Given the description of an element on the screen output the (x, y) to click on. 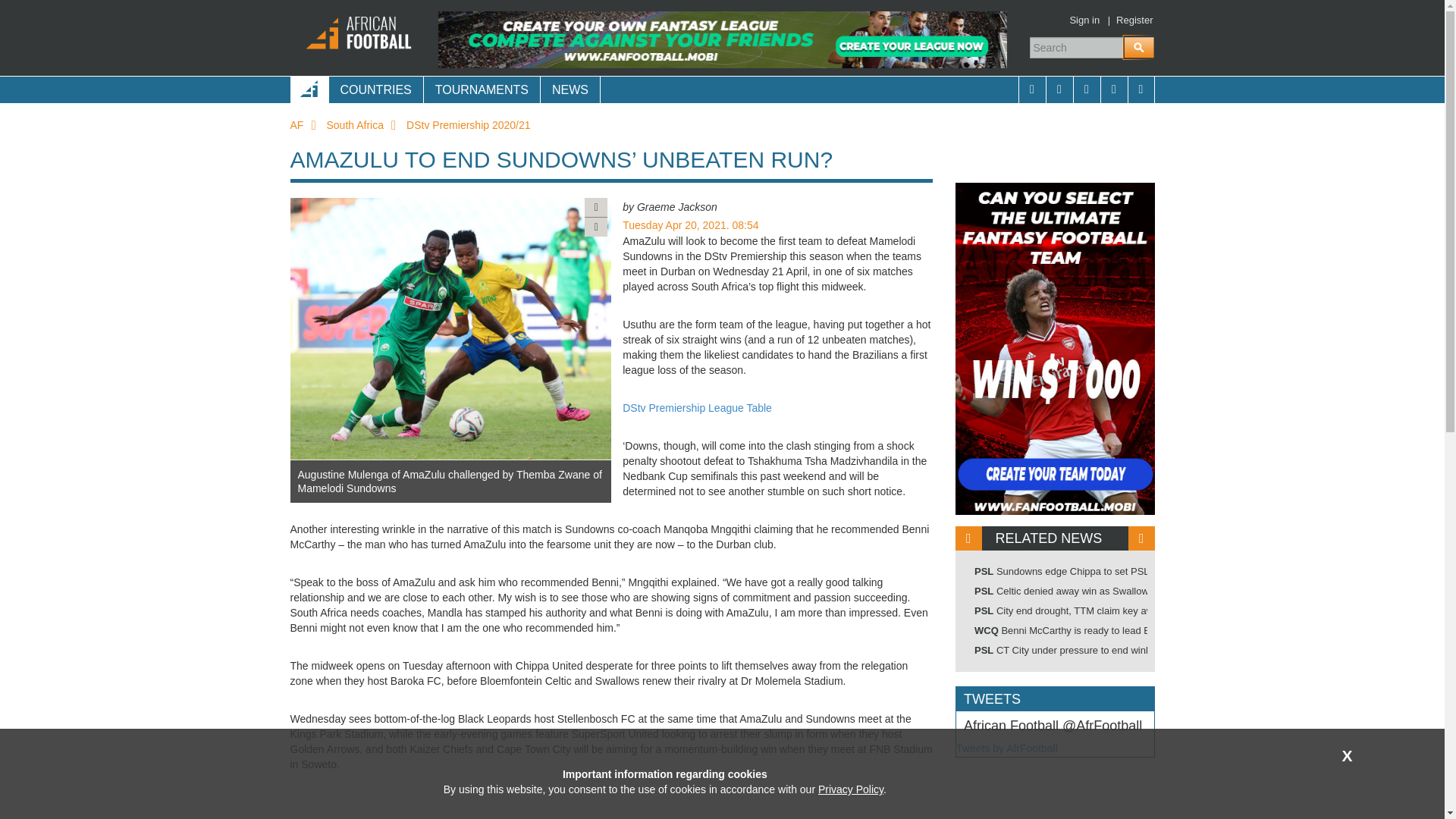
Register (1134, 19)
TOURNAMENTS (481, 89)
NEWS (569, 89)
Sign in (1083, 19)
COUNTRIES (374, 89)
